Given the description of an element on the screen output the (x, y) to click on. 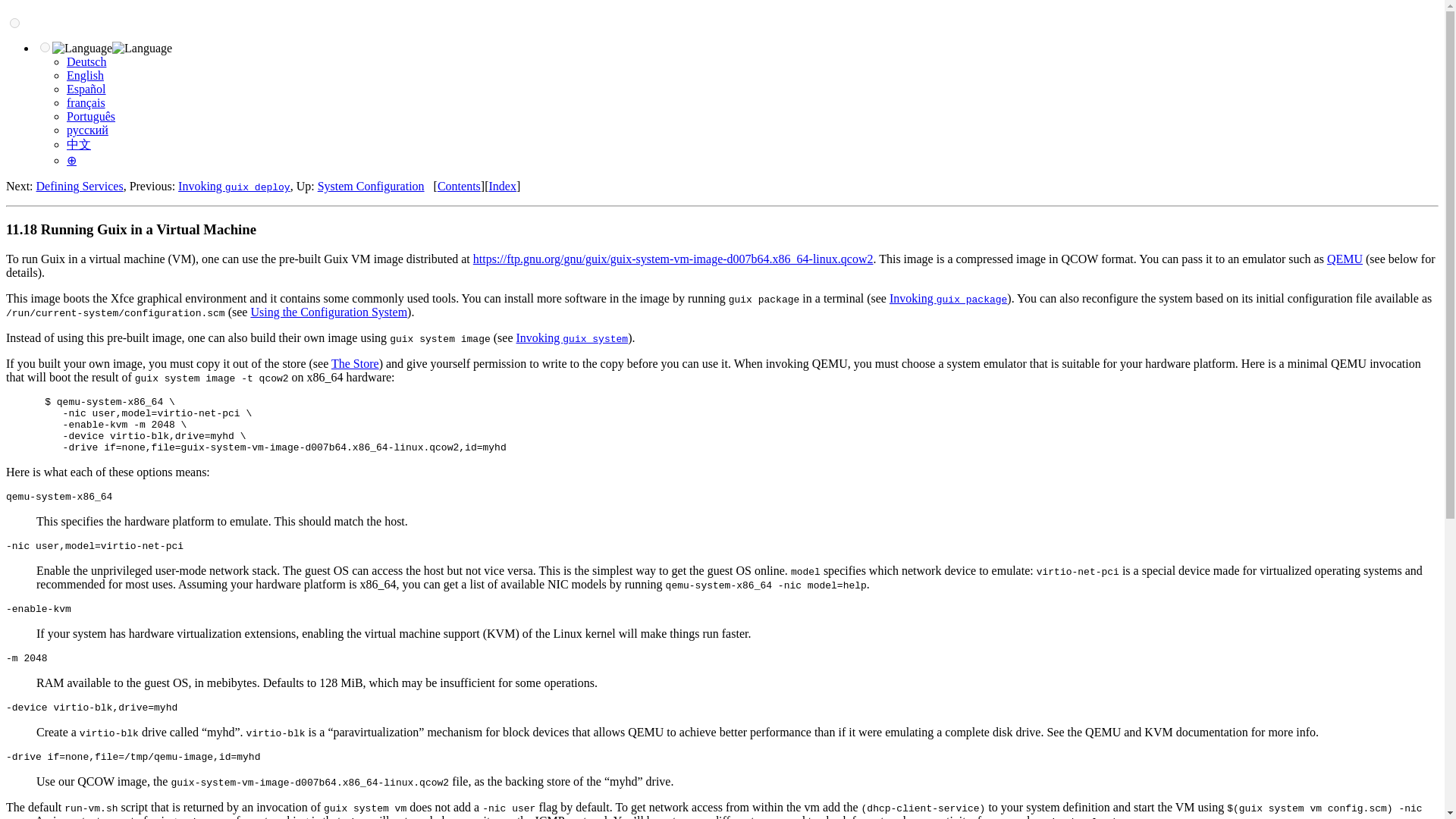
on (15, 22)
QEMU (1344, 258)
English (84, 74)
Index (501, 185)
Invoking guix package (948, 297)
Invoking guix deploy (233, 185)
Contents (459, 185)
Table of contents (459, 185)
The Store (354, 363)
Deutsch (86, 61)
on (44, 47)
Defining Services (79, 185)
Invoking guix system (572, 337)
System Configuration (371, 185)
Index (501, 185)
